Given the description of an element on the screen output the (x, y) to click on. 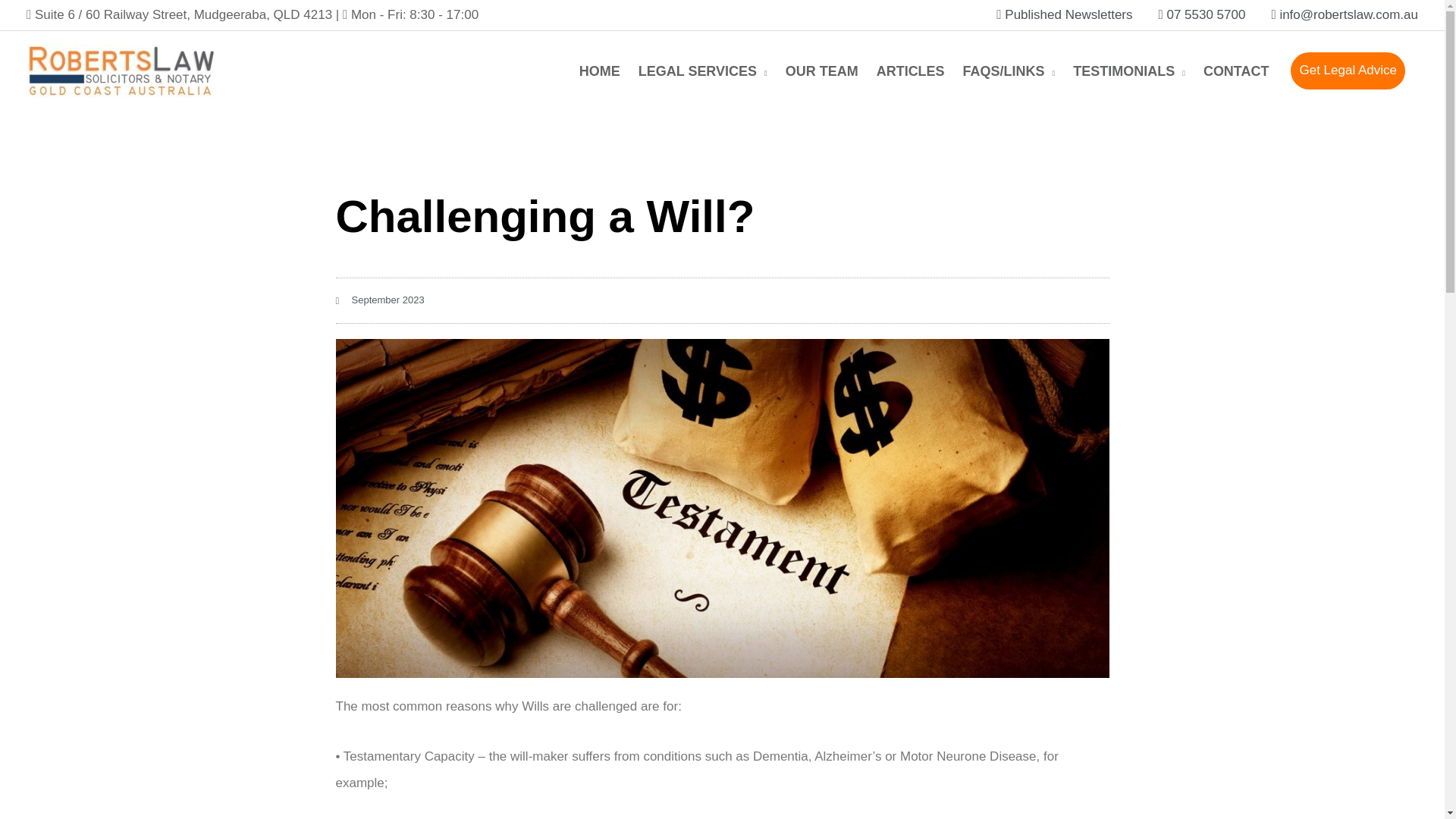
Our Latest Newsletters (1064, 15)
Our Articles (910, 70)
Get Legal Advice (1347, 70)
What Our Clients Say (1128, 70)
Robertslaw (599, 70)
Our Team (821, 70)
OUR TEAM (821, 70)
LEGAL SERVICES (702, 70)
TESTIMONIALS (1128, 70)
07 5530 5700 (1200, 15)
